Given the description of an element on the screen output the (x, y) to click on. 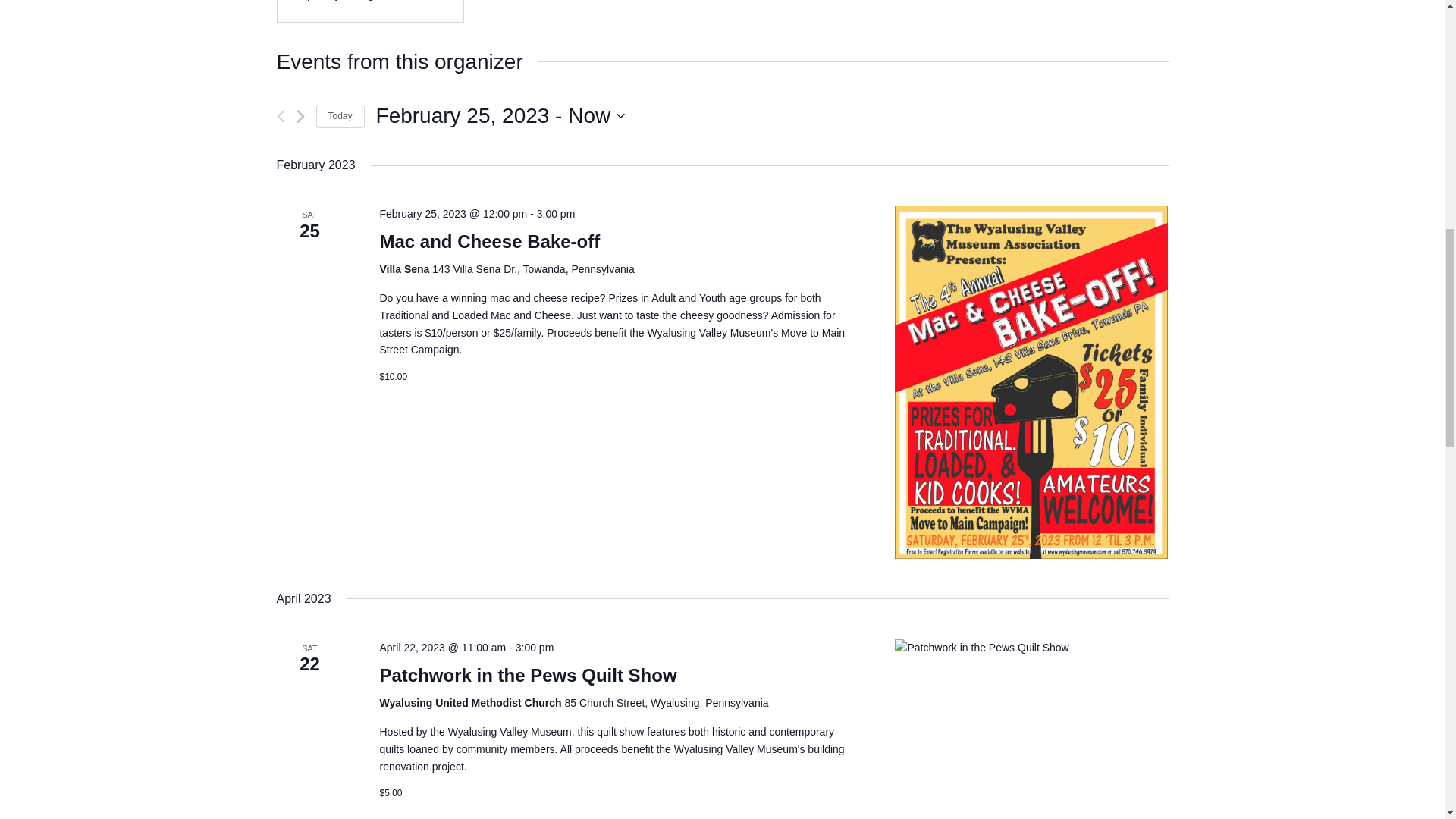
Mac and Cheese Bake-off (488, 241)
Click to toggle datepicker (500, 115)
Patchwork in the Pews Quilt Show (1031, 729)
Patchwork in the Pews Quilt Show (500, 115)
Today (527, 675)
Mac and Cheese Bake-off (339, 115)
Patchwork in the Pews Quilt Show (488, 241)
Click to select today's date (527, 675)
